Given the description of an element on the screen output the (x, y) to click on. 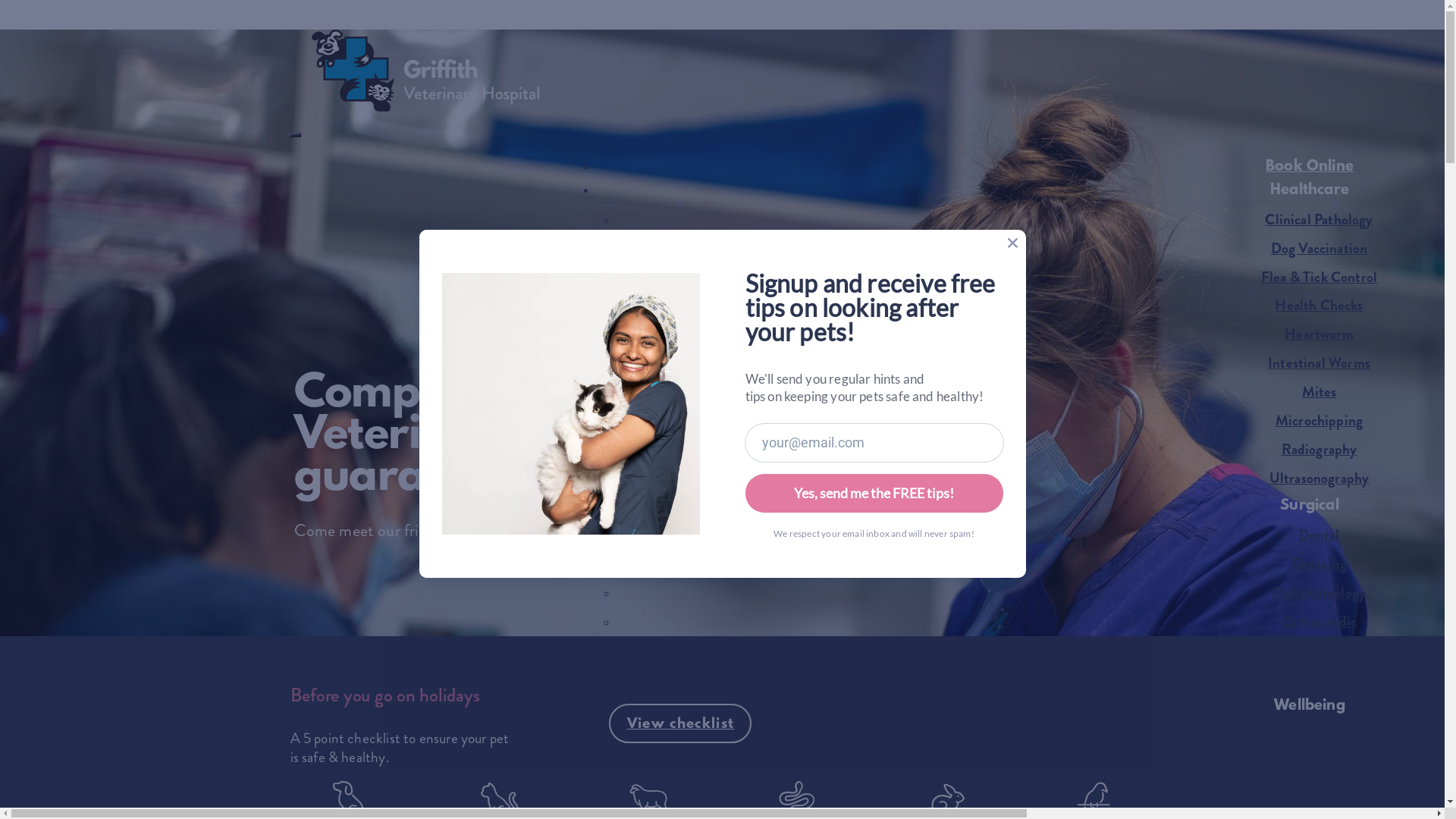
Heartworm Element type: text (1318, 334)
Desexing Element type: text (1318, 563)
Behavioural Advice Element type: text (1318, 735)
Mites Element type: text (1319, 391)
Radiography Element type: text (1319, 449)
Dental Element type: text (1318, 535)
Microchipping Element type: text (1318, 420)
Intestinal Worms Element type: text (1318, 362)
Home Element type: hover (413, 107)
Ultrasonography Element type: text (1319, 477)
Pet Grooming Element type: text (1318, 792)
Health Checks Element type: text (1318, 305)
Dog Vaccination Element type: text (1319, 248)
Clinical Pathology Element type: text (1318, 219)
Orthopaedic Element type: text (1319, 621)
Yes, send me the FREE tips! Element type: text (873, 492)
Flea & Tick Control Element type: text (1319, 277)
View checklist Element type: text (679, 723)
Book Online Element type: text (1309, 166)
Soft Tissue Element type: text (1319, 678)
Skip to main content Element type: text (722, 7)
Boarding Advice Element type: text (1319, 764)
Ophthalmology Element type: text (1318, 592)
Pet Emergency Element type: text (1319, 650)
